Given the description of an element on the screen output the (x, y) to click on. 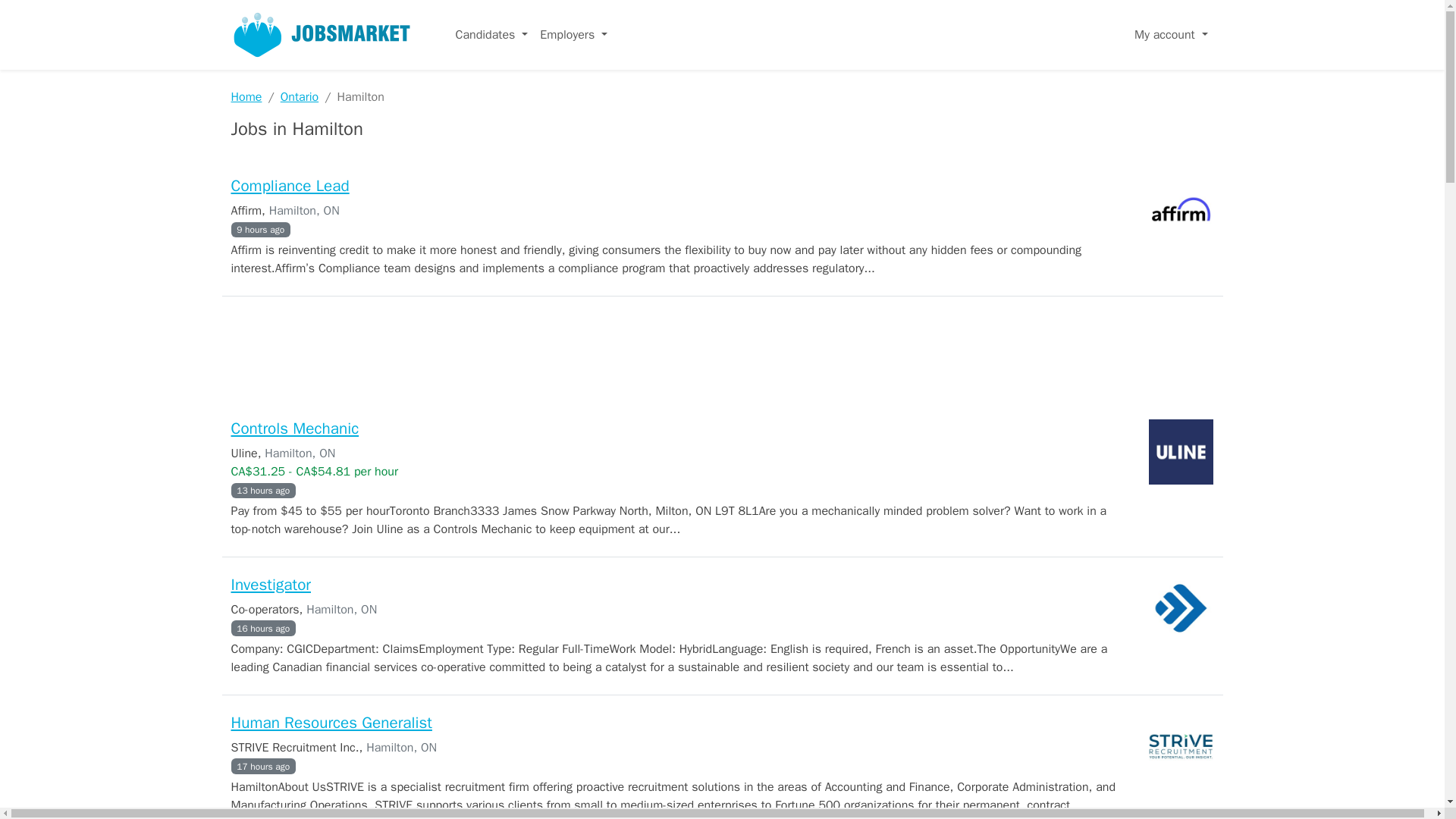
Compliance Lead (289, 185)
Controls Mechanic (294, 428)
JobsMarket (321, 34)
Ontario (299, 96)
Human Resources Generalist (330, 722)
My account (1170, 34)
Advertisement (721, 355)
Investigator (270, 584)
Candidates (491, 34)
Employers (573, 34)
Home (246, 96)
